Given the description of an element on the screen output the (x, y) to click on. 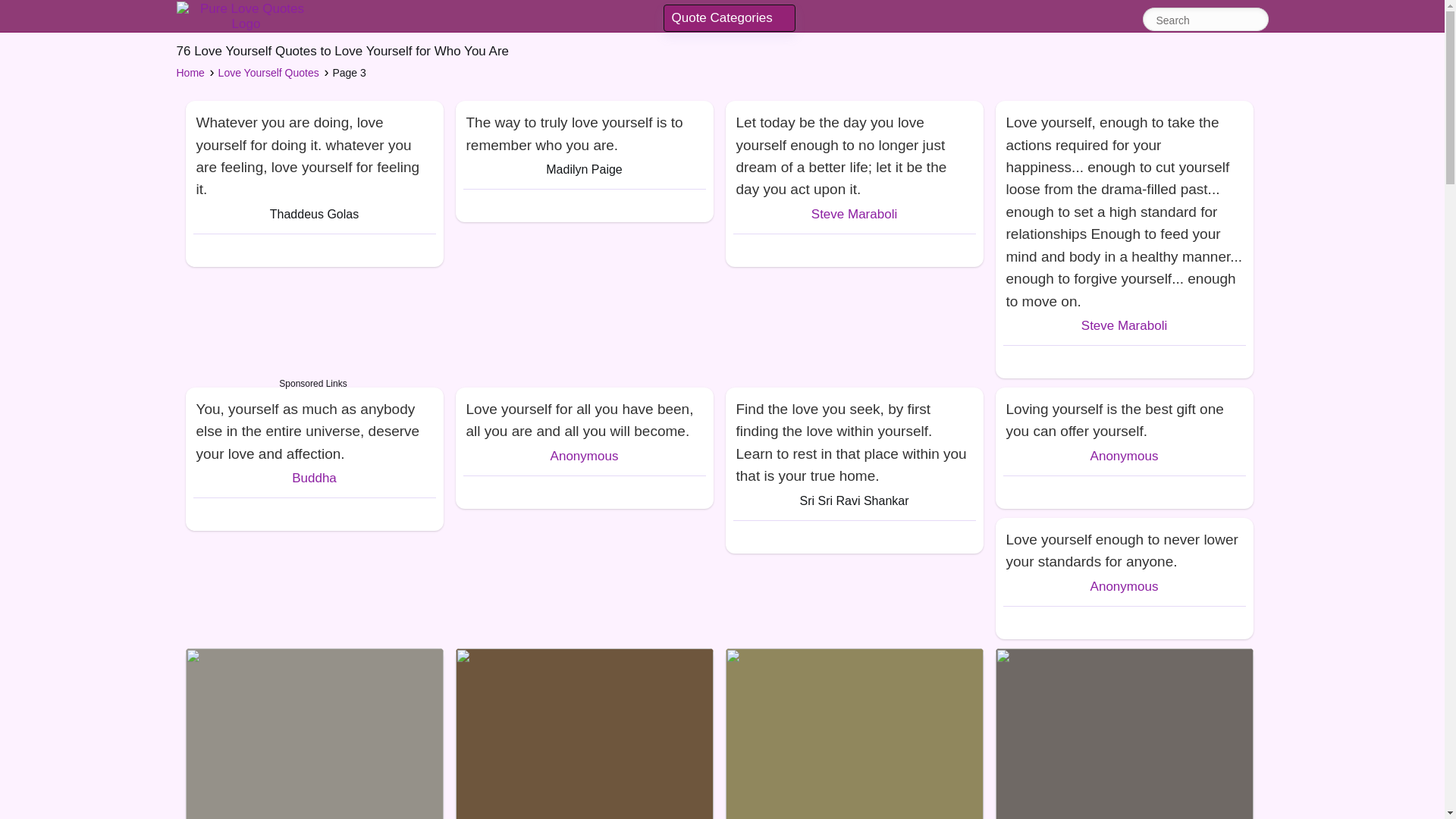
see quote (1123, 547)
see quote (313, 152)
see quote (853, 152)
Quote Categories (728, 17)
PureLoveQuotes.com (245, 16)
see quote (853, 439)
see quote (313, 427)
see quote (583, 129)
Start typing and hit ENTER (1197, 19)
see quote (583, 416)
